Given the description of an element on the screen output the (x, y) to click on. 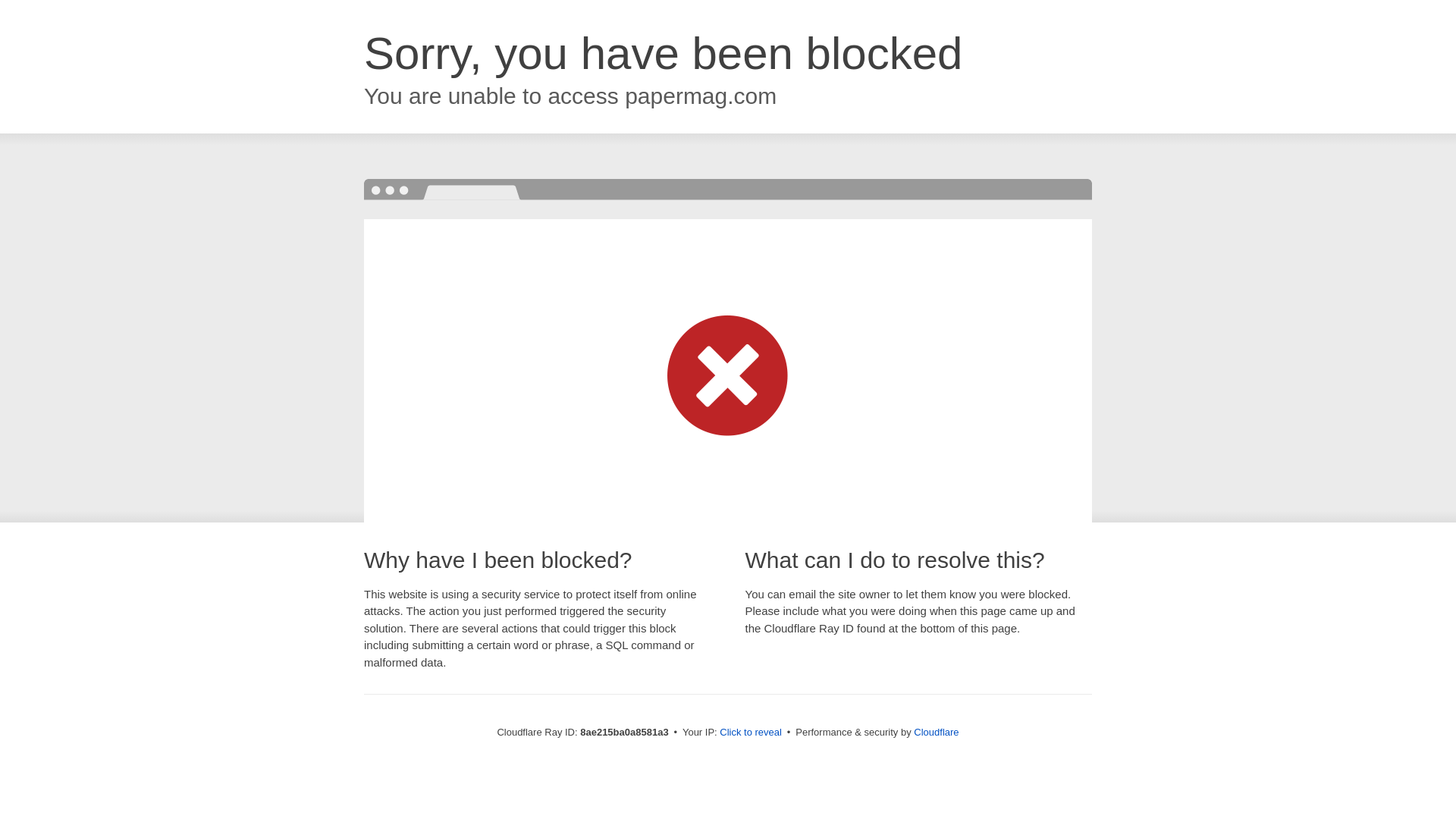
Cloudflare (936, 731)
Click to reveal (750, 732)
